Given the description of an element on the screen output the (x, y) to click on. 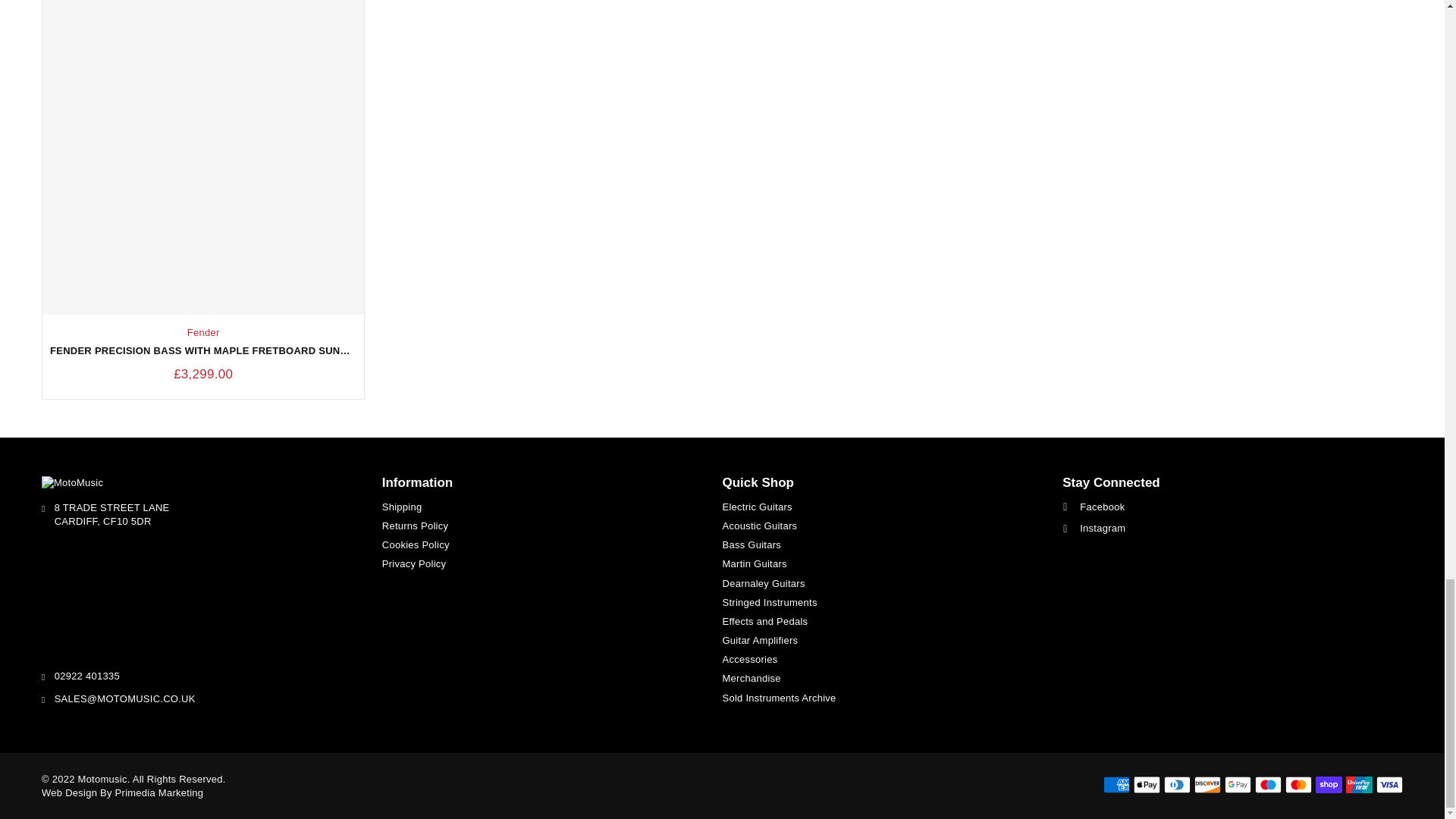
Shop Pay (1329, 784)
Diners Club (1177, 784)
Google Pay (1237, 784)
American Express (1116, 784)
Maestro (1268, 784)
Visa (1389, 784)
Discover (1207, 784)
Union Pay (1359, 784)
Mastercard (1298, 784)
Apple Pay (1147, 784)
